Given the description of an element on the screen output the (x, y) to click on. 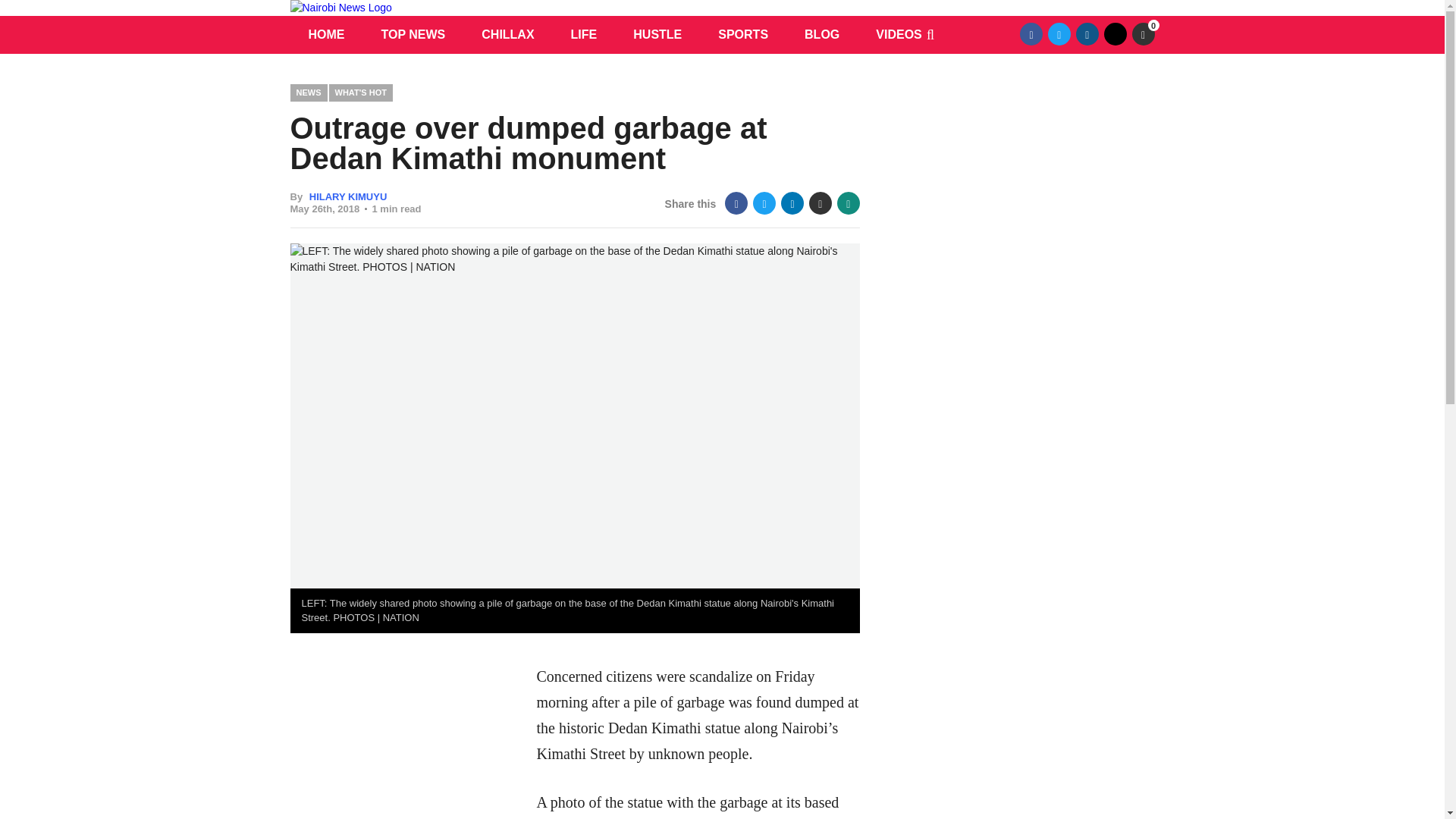
TikTok (1114, 33)
CHILLAX (507, 34)
NEWS (307, 92)
Facebook (736, 201)
Twitter (1059, 33)
Instagram (1087, 33)
VIDEOS (898, 34)
HUSTLE (657, 34)
Updates made in the last 20 minutes (1142, 33)
HOME (325, 34)
TOP NEWS (412, 34)
LIFE (584, 34)
Facebook (1031, 33)
SPORTS (743, 34)
0 (1142, 33)
